Given the description of an element on the screen output the (x, y) to click on. 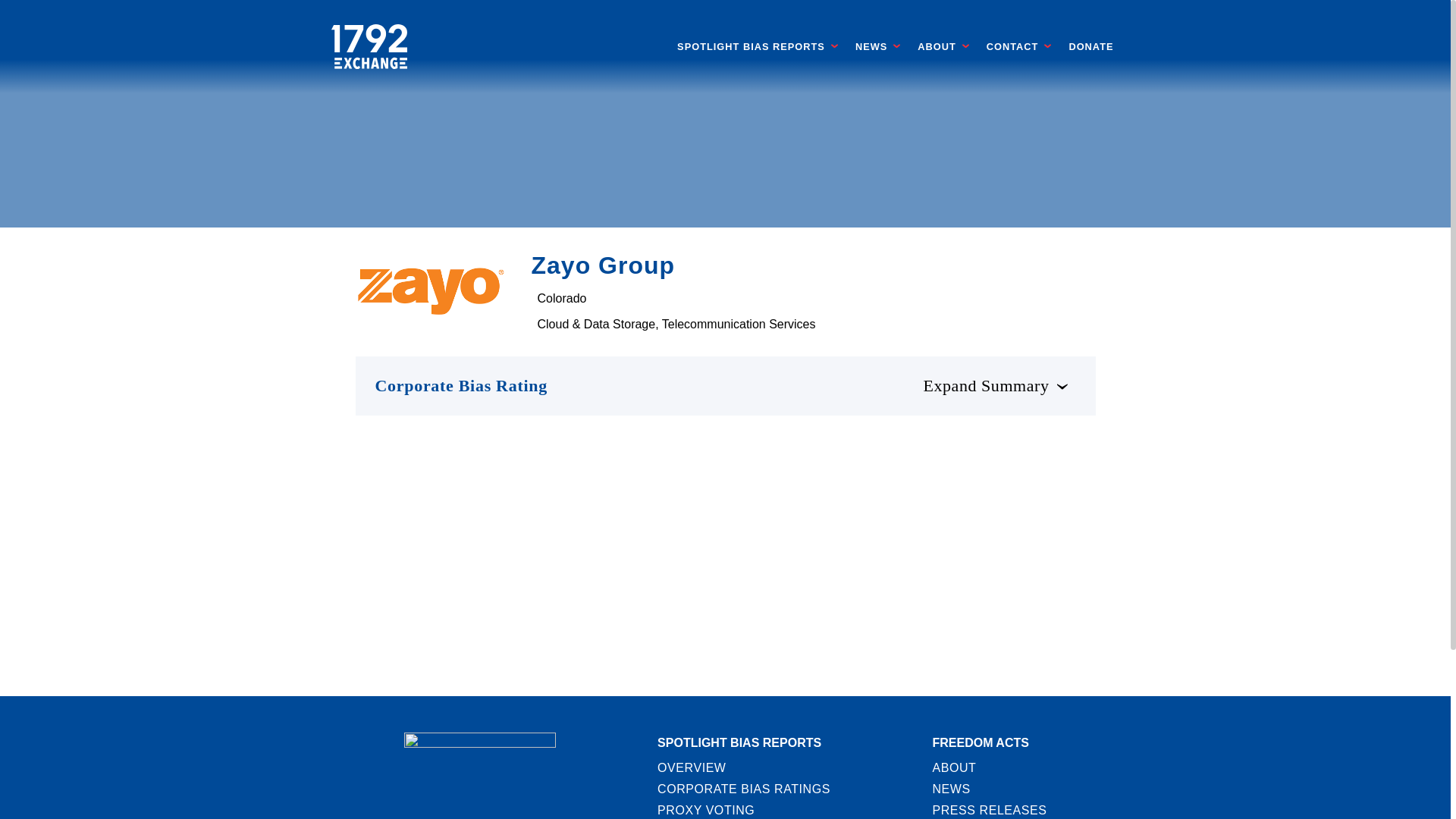
ABOUT (936, 46)
CONTACT (1013, 46)
NEWS (871, 46)
DONATE (1090, 46)
SPOTLIGHT BIAS REPORTS (751, 46)
